Given the description of an element on the screen output the (x, y) to click on. 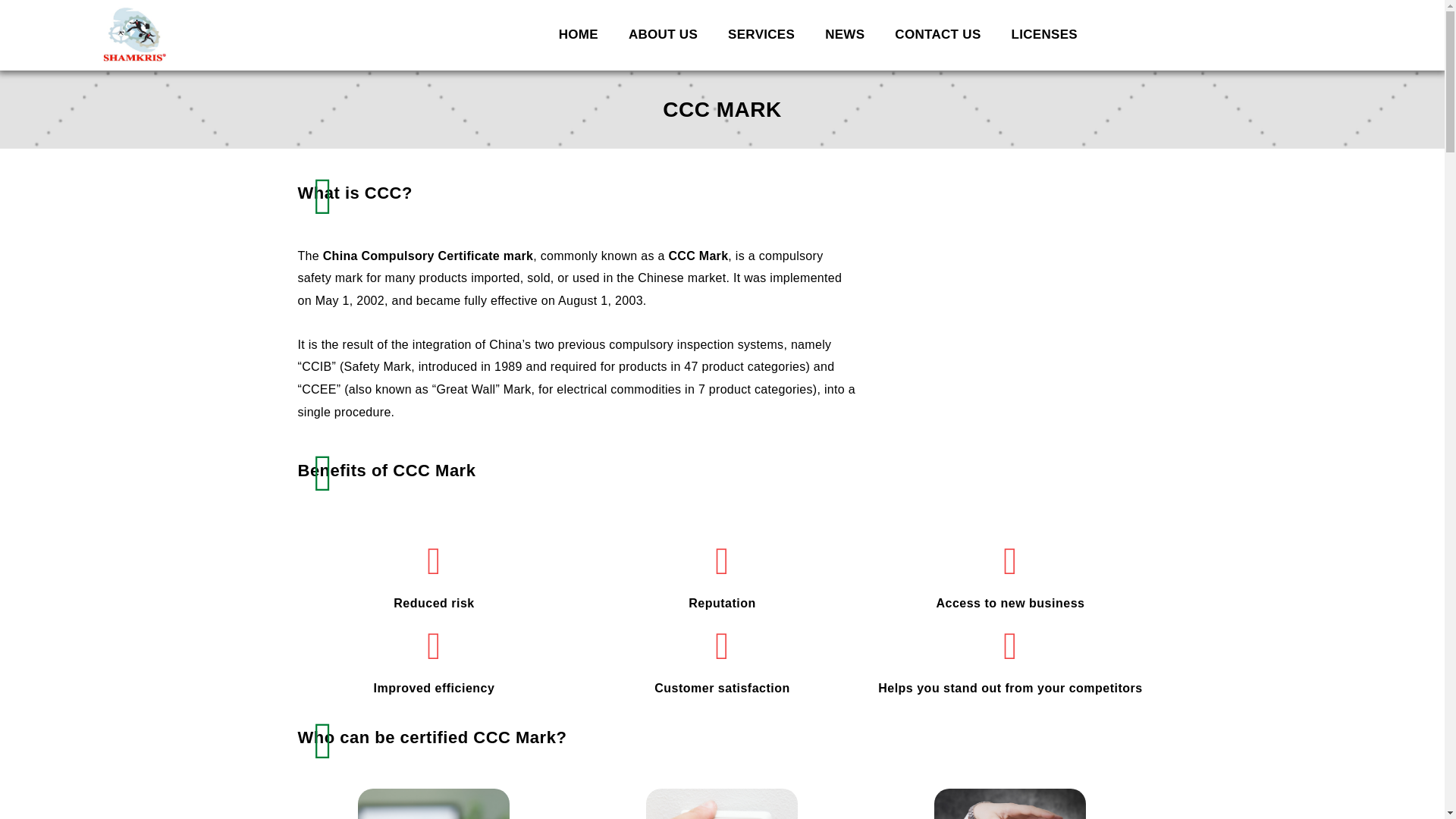
HOME (577, 34)
NEWS (844, 34)
ABOUT US (662, 34)
SERVICES (761, 34)
LICENSES (1044, 34)
CONTACT US (937, 34)
